Given the description of an element on the screen output the (x, y) to click on. 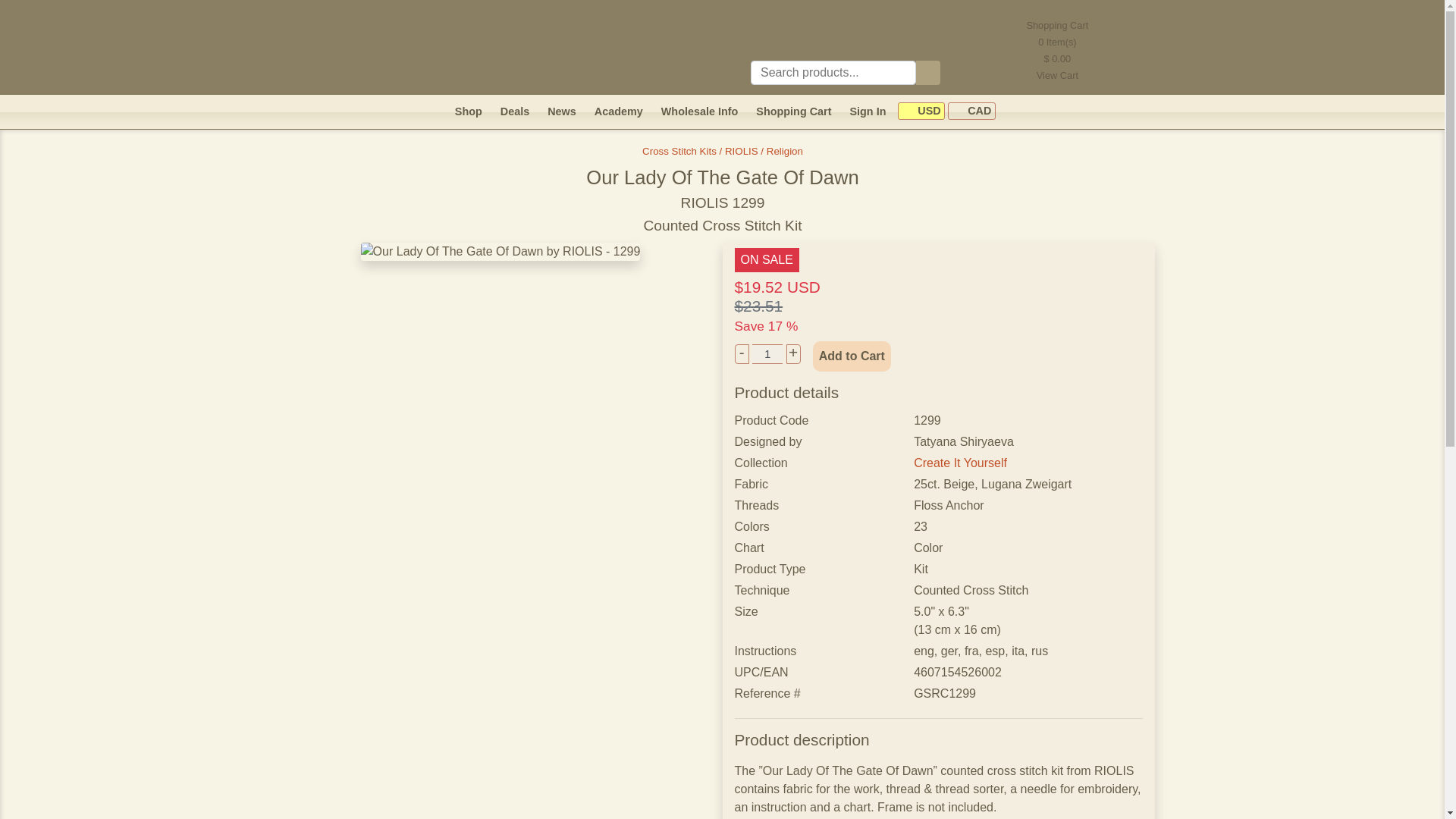
Wholesale Info (699, 111)
Shop (467, 111)
Academy (618, 111)
Deals (514, 111)
News (561, 111)
Create It Yourself (960, 462)
Sign In (866, 111)
1 (767, 353)
Shopping Cart (793, 111)
